Given the description of an element on the screen output the (x, y) to click on. 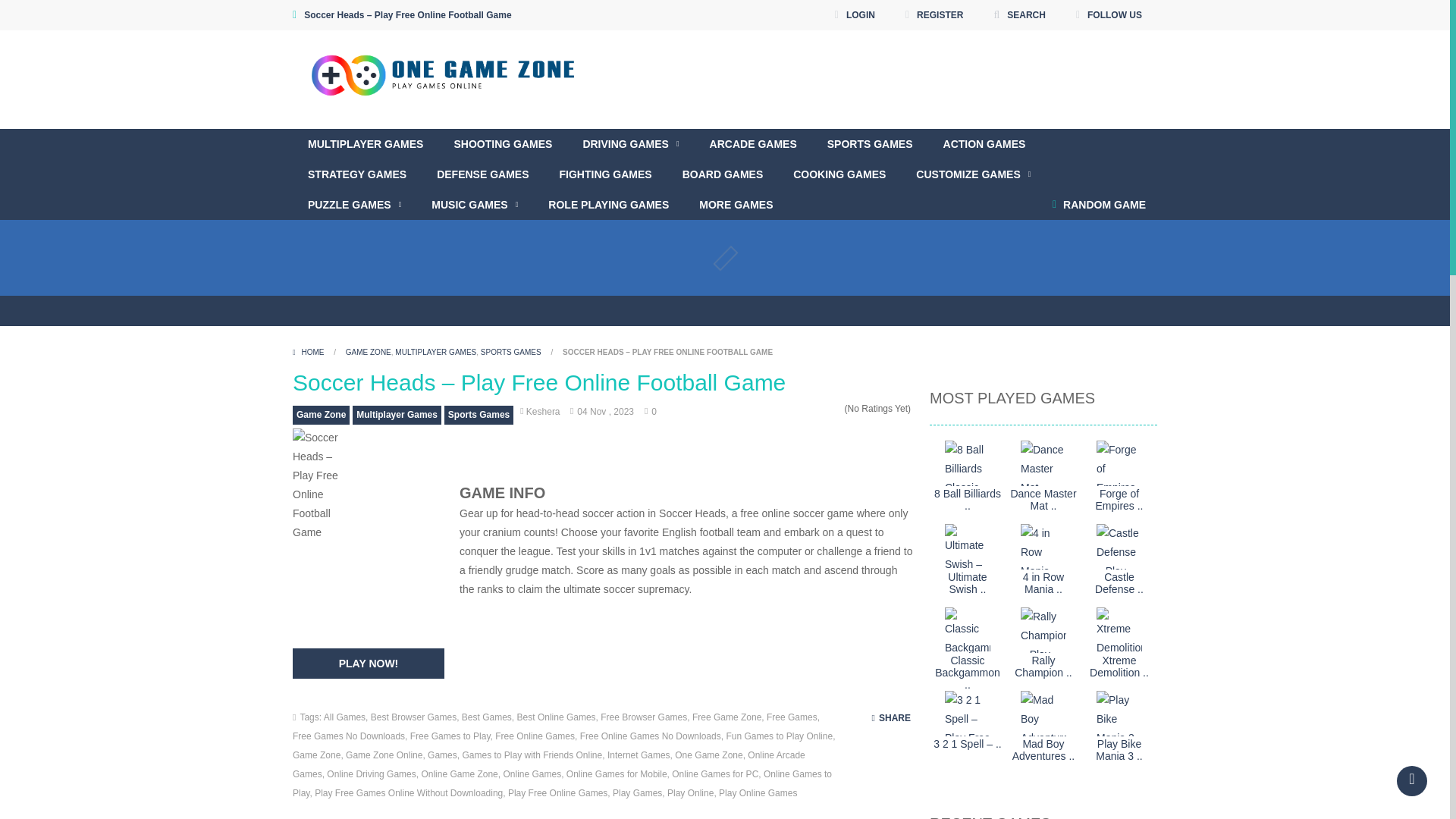
ACTION GAMES (984, 143)
PUZZLE GAMES (354, 204)
DEFENSE GAMES (482, 173)
STRATEGY GAMES (357, 173)
SEARCH (1019, 15)
CUSTOMIZE GAMES (973, 173)
COOKING GAMES (839, 173)
FOLLOW US (1108, 15)
FIGHTING GAMES (605, 173)
SPORTS GAMES (870, 143)
